Given the description of an element on the screen output the (x, y) to click on. 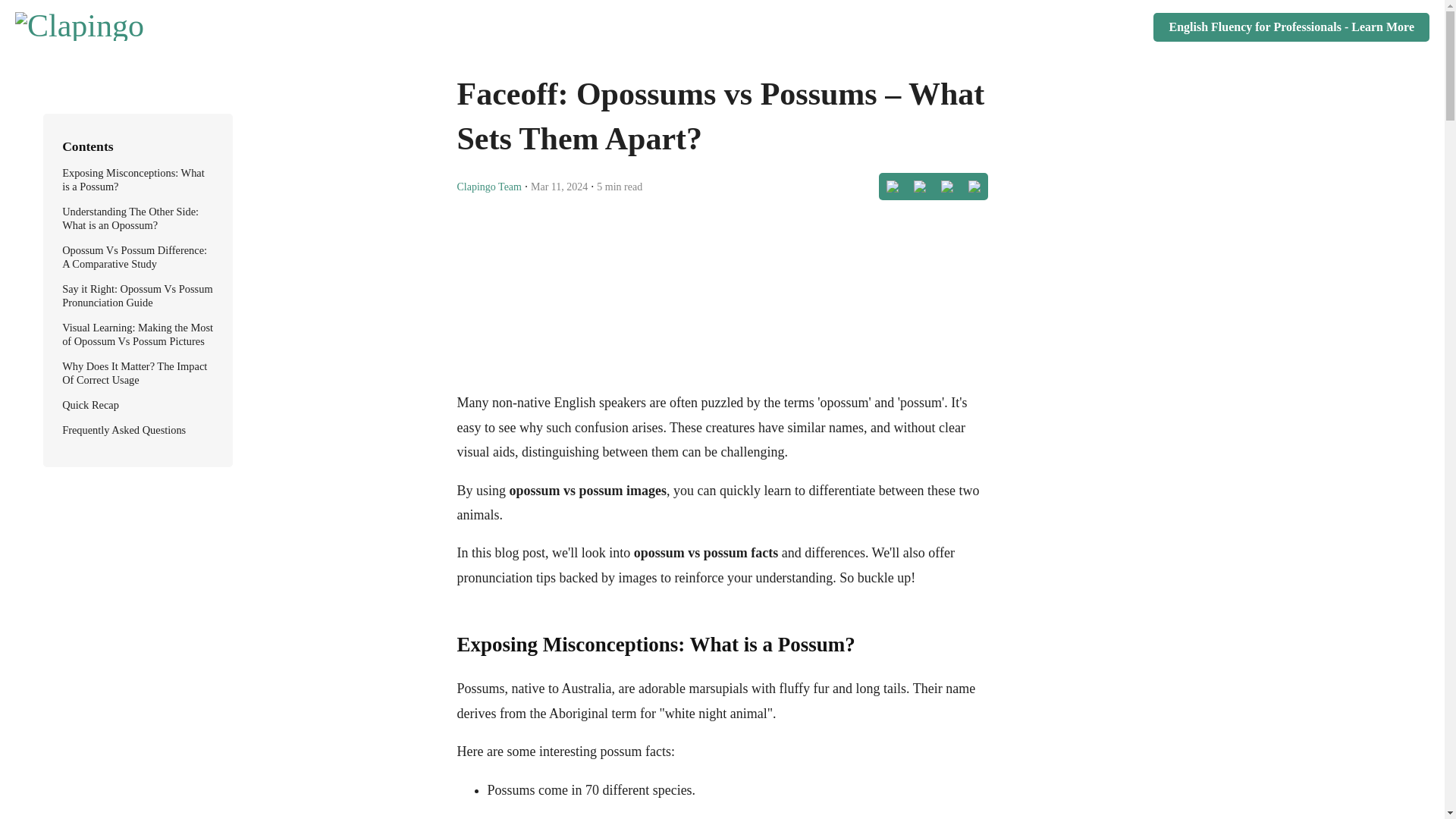
Say it Right: Opossum Vs Possum Pronunciation Guide (137, 295)
Understanding The Other Side: What is an Opossum? (130, 217)
Opossum Vs Possum Difference: A Comparative Study (134, 257)
Frequently Asked Questions (124, 429)
Clapingo Team (489, 185)
English Fluency for Professionals - Learn More (1291, 26)
English Fluency for Professionals - Learn More (1291, 26)
Quick Recap (90, 404)
Why Does It Matter? The Impact Of Correct Usage (134, 372)
Exposing Misconceptions: What is a Possum? (133, 179)
